Given the description of an element on the screen output the (x, y) to click on. 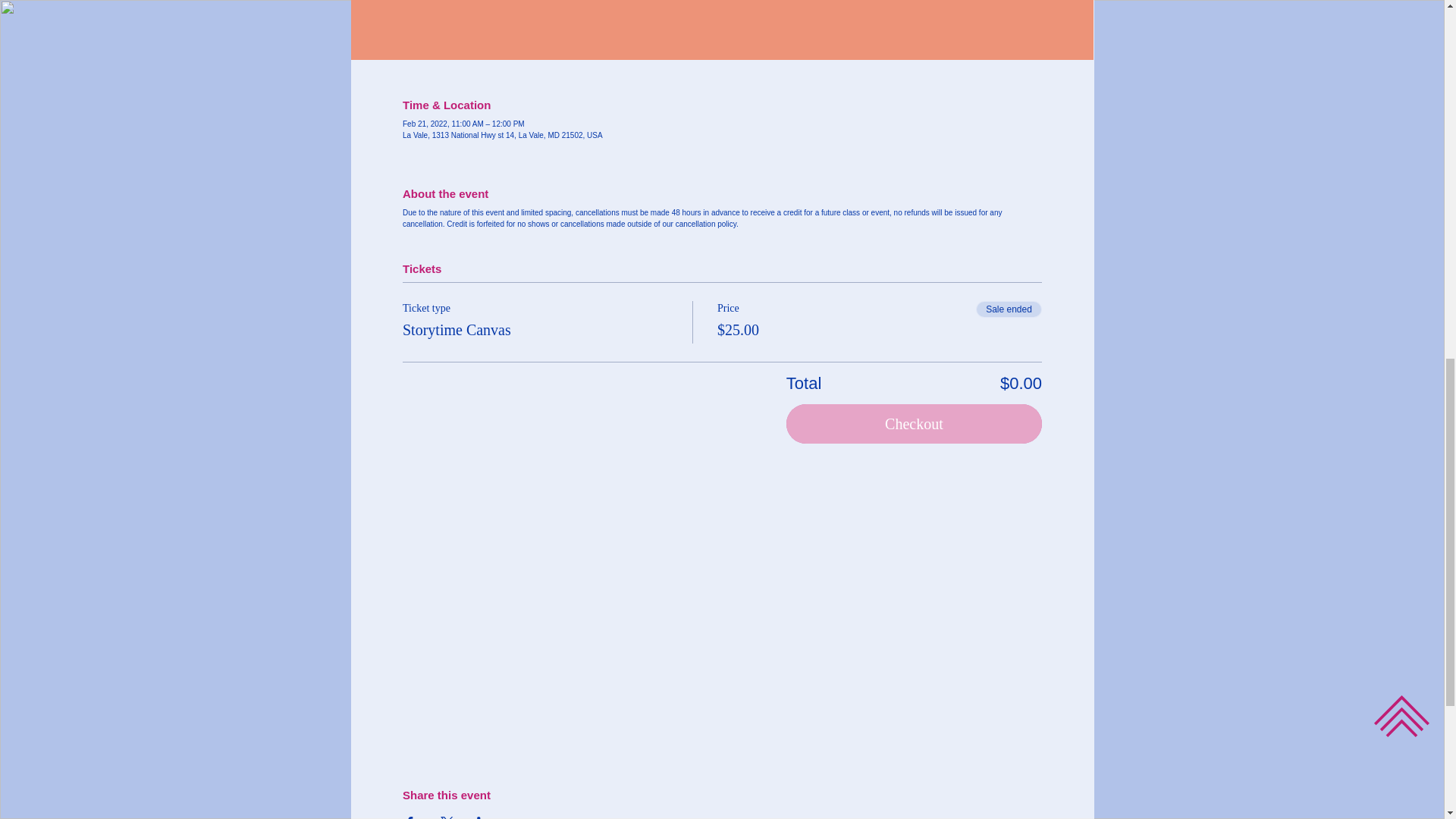
Checkout (914, 423)
